Given the description of an element on the screen output the (x, y) to click on. 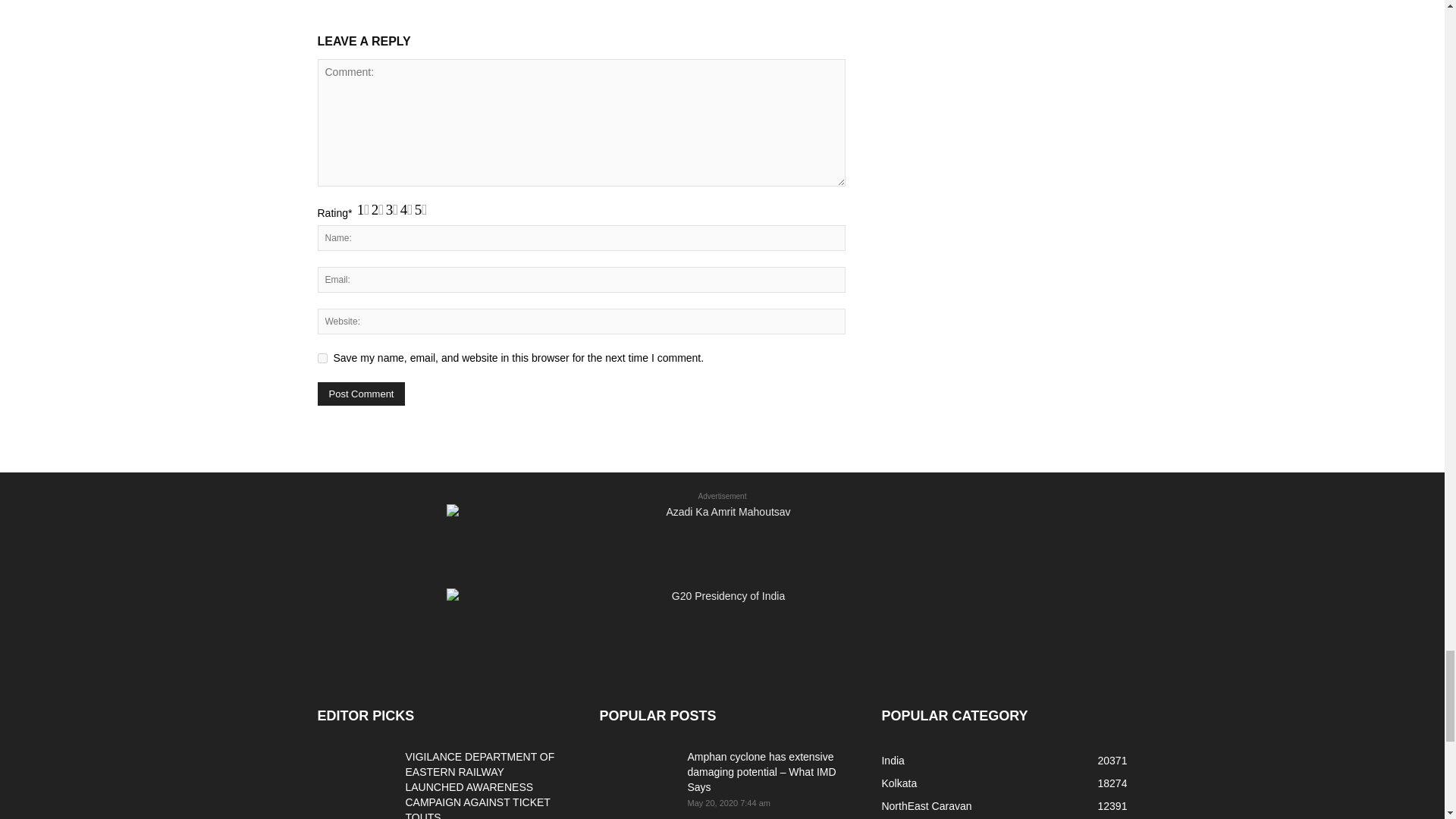
Post Comment (360, 393)
yes (321, 357)
